Given the description of an element on the screen output the (x, y) to click on. 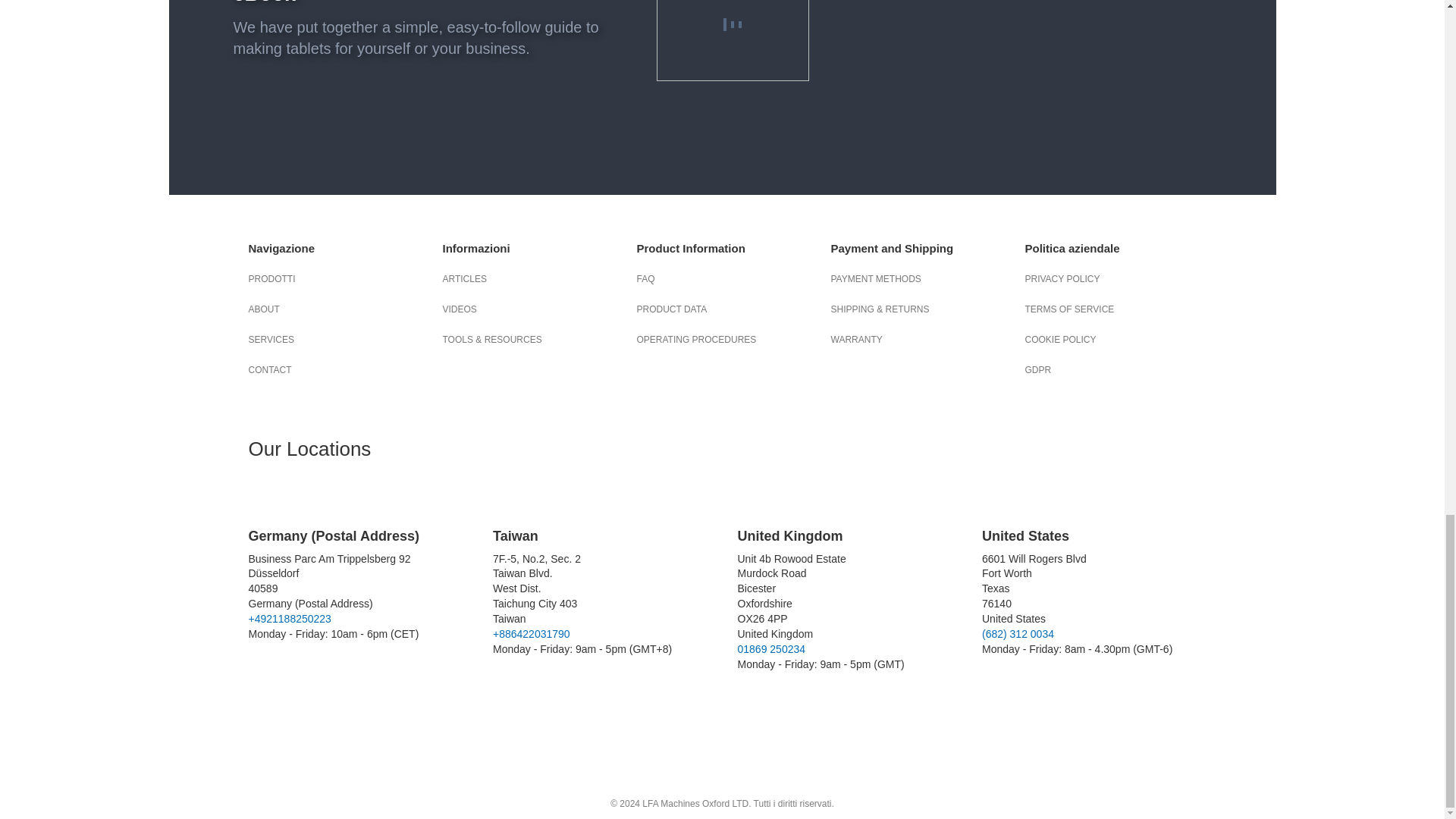
Form 0 (1021, 78)
